Given the description of an element on the screen output the (x, y) to click on. 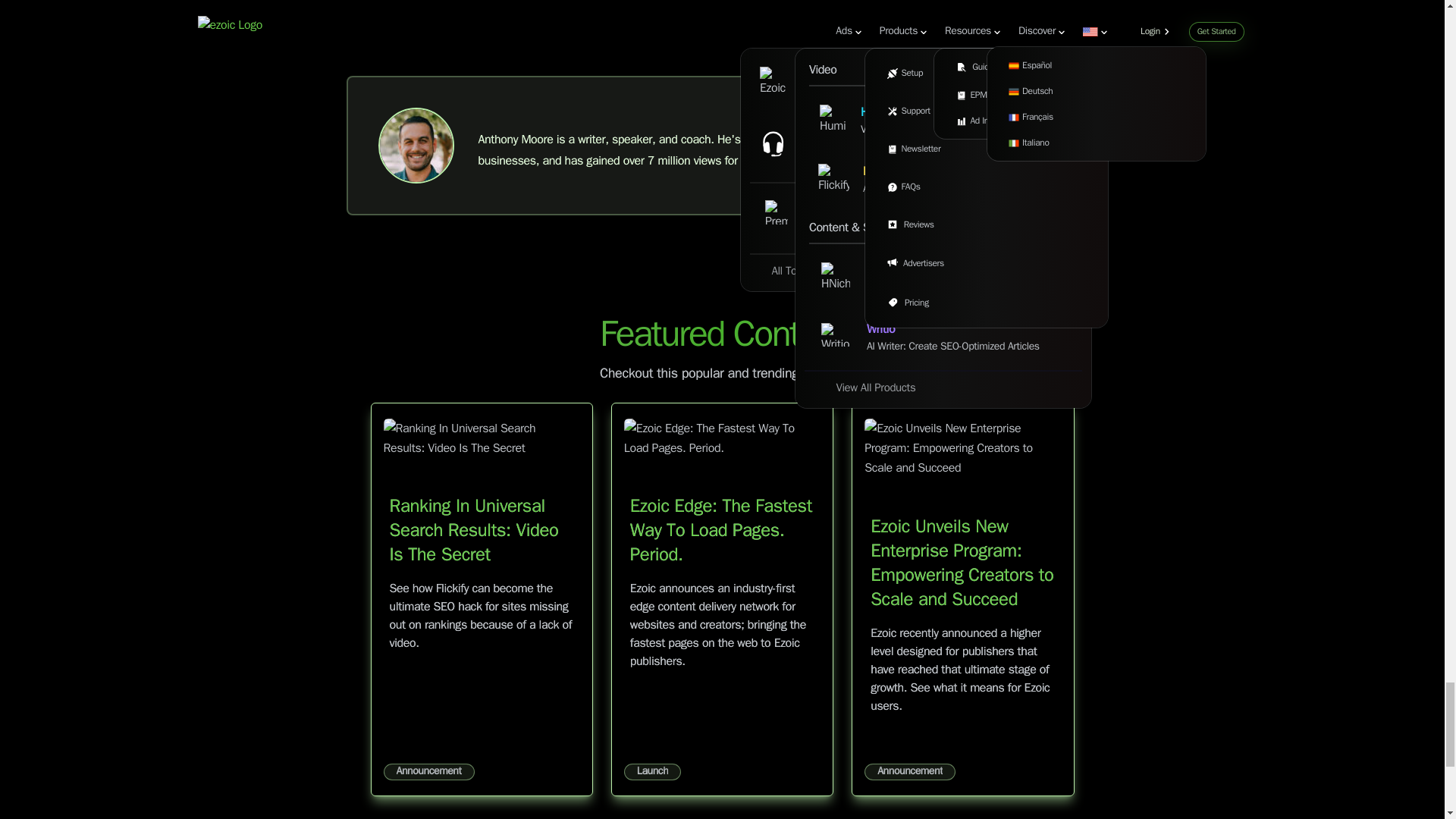
Ranking In Universal Search Results: Video Is The Secret (474, 530)
Ezoic Edge: The Fastest Way To Load Pages. Period. (721, 530)
